Given the description of an element on the screen output the (x, y) to click on. 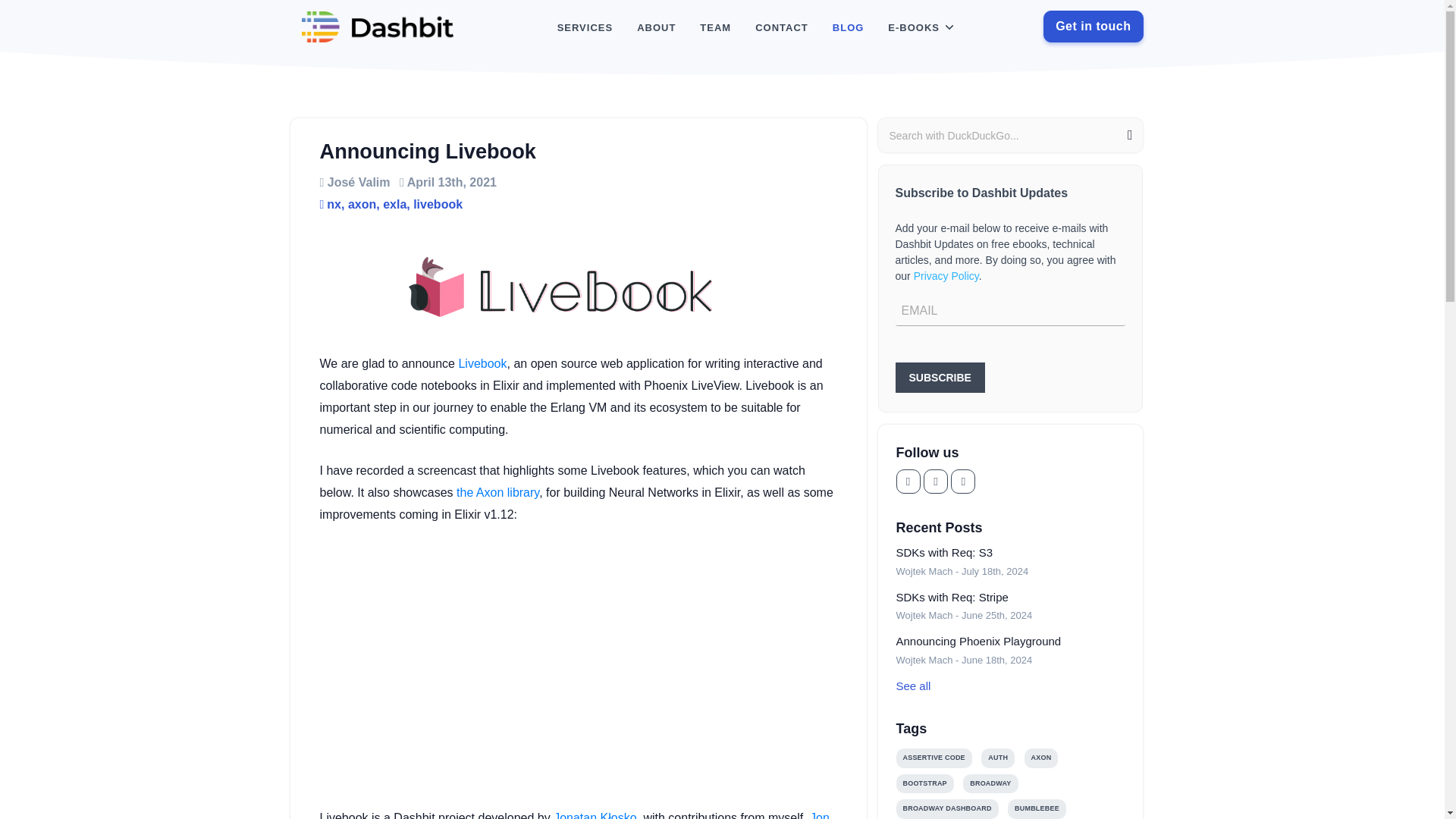
TEAM (714, 28)
BOOTSTRAP (924, 783)
Twitter (935, 481)
Search (1127, 137)
AXON (1041, 758)
AUTH (997, 758)
Privacy Policy (946, 275)
axon (361, 204)
Privacy Policy  (946, 275)
exla (394, 204)
Livebook (482, 363)
SERVICES (585, 28)
See all (1010, 686)
nx (333, 204)
Jon Klein (574, 815)
